Given the description of an element on the screen output the (x, y) to click on. 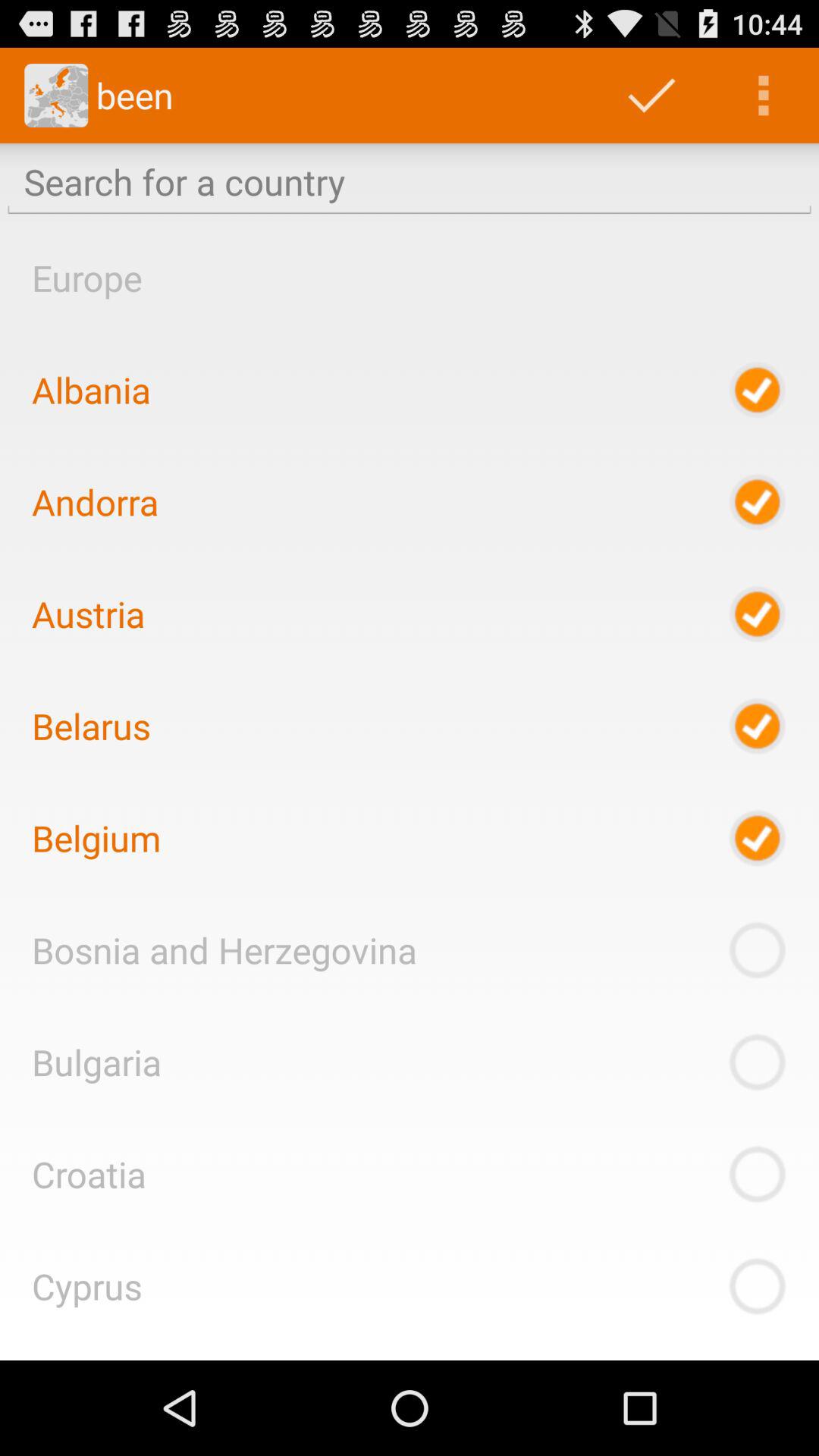
select the app above the cyprus app (88, 1174)
